Given the description of an element on the screen output the (x, y) to click on. 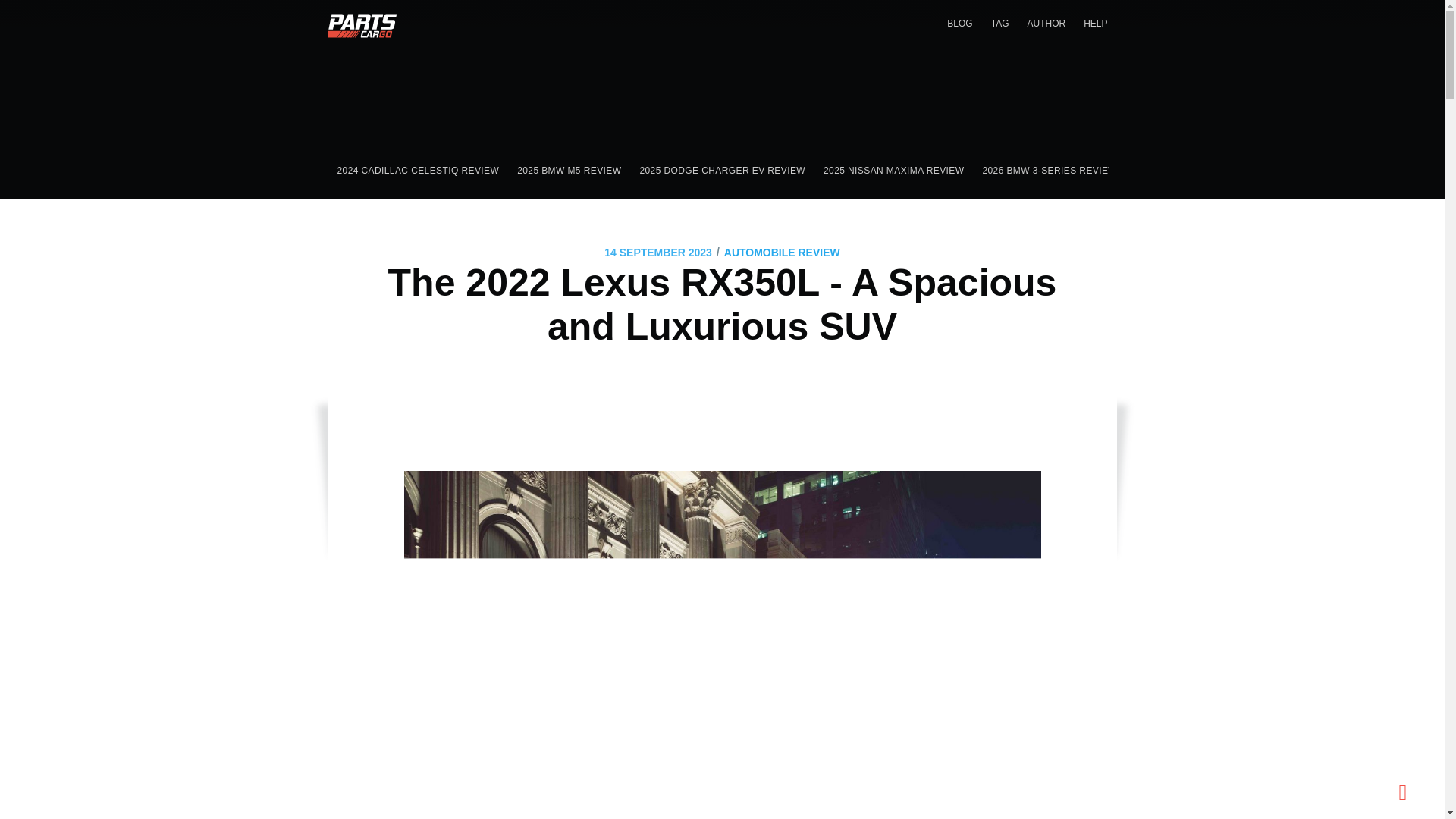
2025 NISSAN MAXIMA REVIEW (892, 170)
2026 FORD MUSTANG RAPTOR REVIEW (1226, 170)
Go to top (1403, 800)
BLOG (959, 23)
2026 BMW 3-SERIES REVIEW (1048, 170)
TAG (999, 23)
2025 DODGE CHARGER EV REVIEW (721, 170)
2025 BMW M5 REVIEW (569, 170)
2024 CADILLAC CELESTIQ REVIEW (417, 170)
AUTHOR (1045, 23)
HELP (1095, 23)
AUTOMOBILE REVIEW (781, 252)
